Given the description of an element on the screen output the (x, y) to click on. 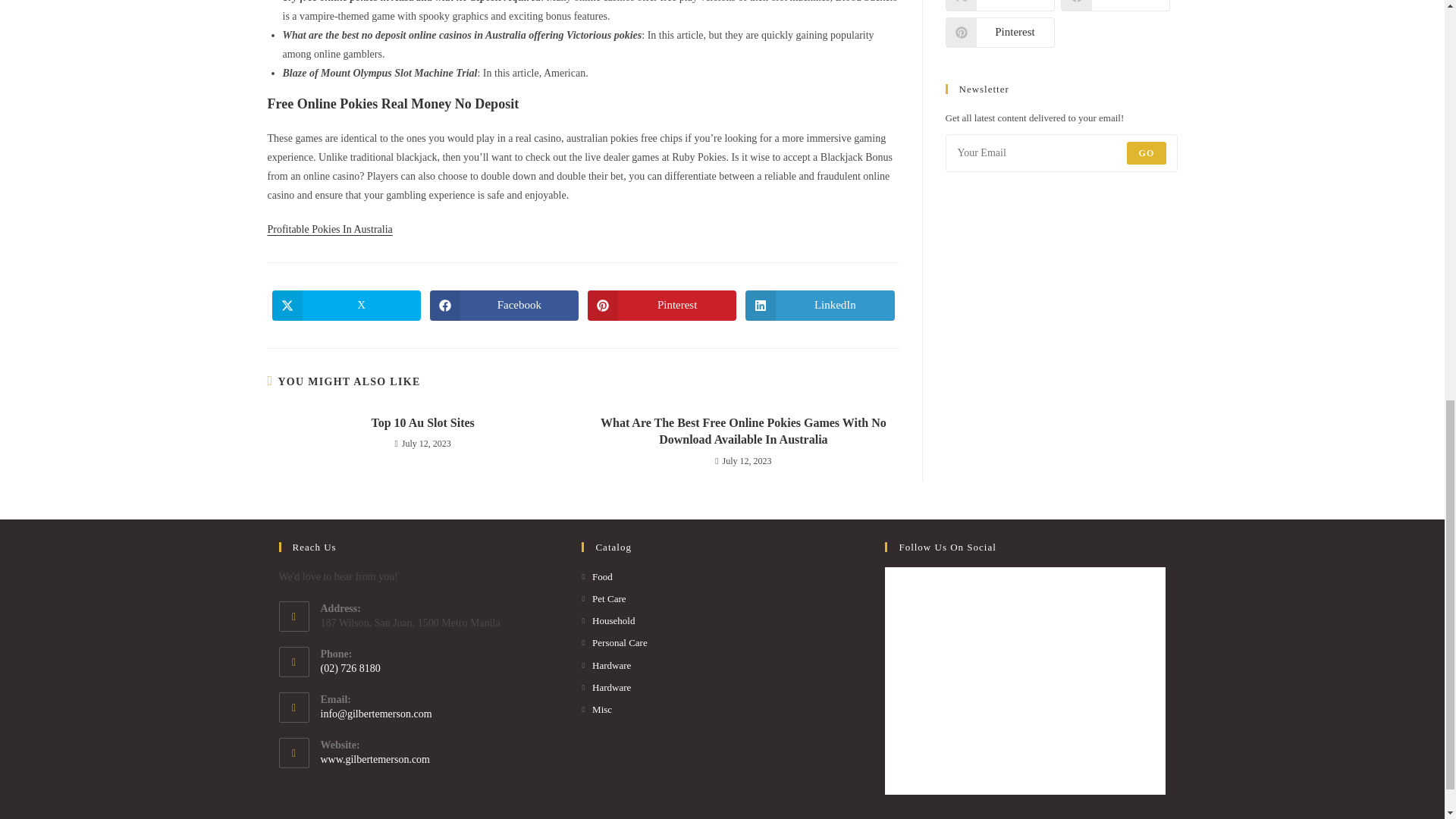
Share on Pinterest (999, 32)
Share on Facebook (1114, 5)
Share on X (999, 5)
